Given the description of an element on the screen output the (x, y) to click on. 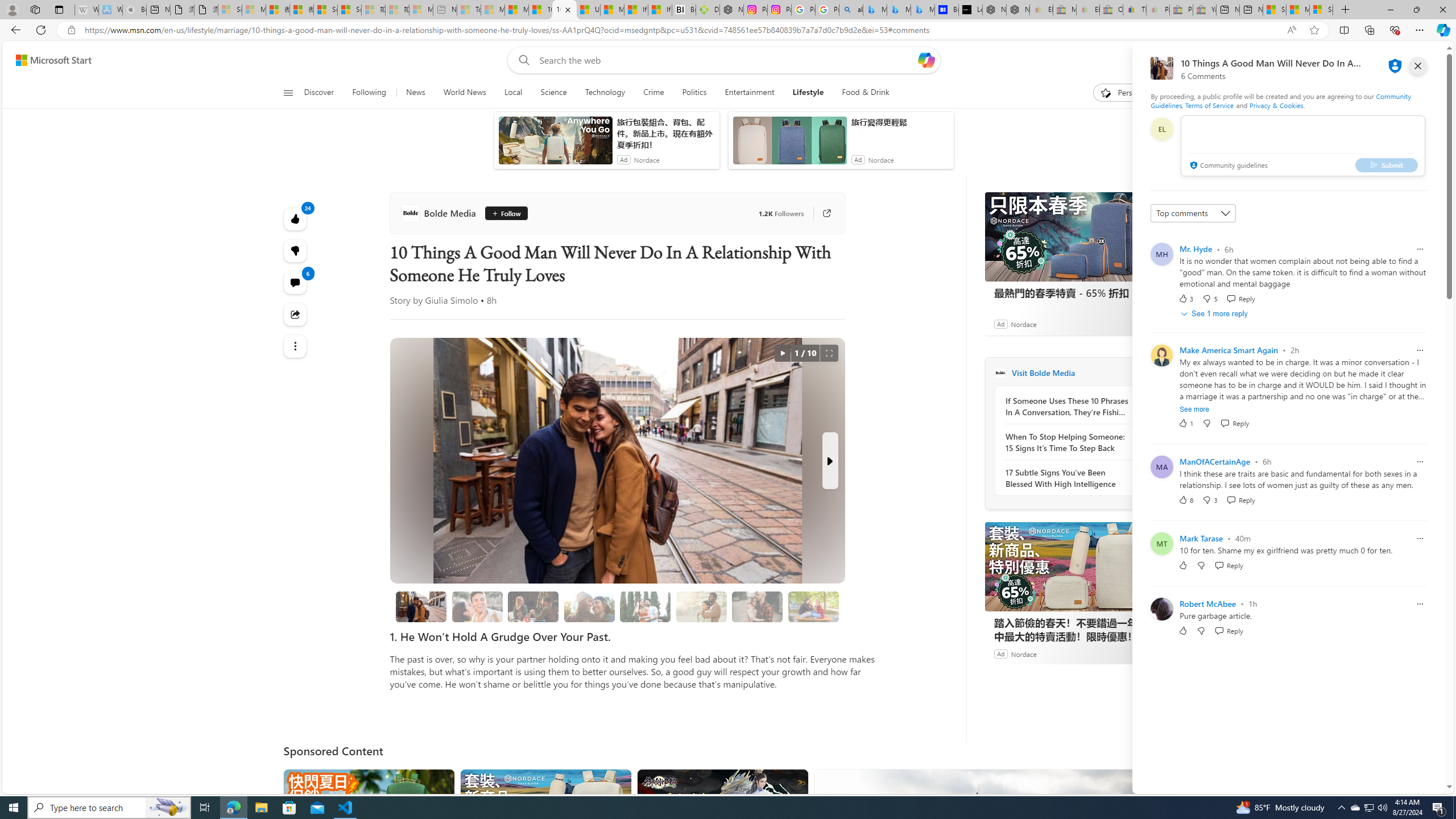
Robert McAbee (1207, 603)
24 Like (295, 218)
Discover (319, 92)
News (415, 92)
